Given the description of an element on the screen output the (x, y) to click on. 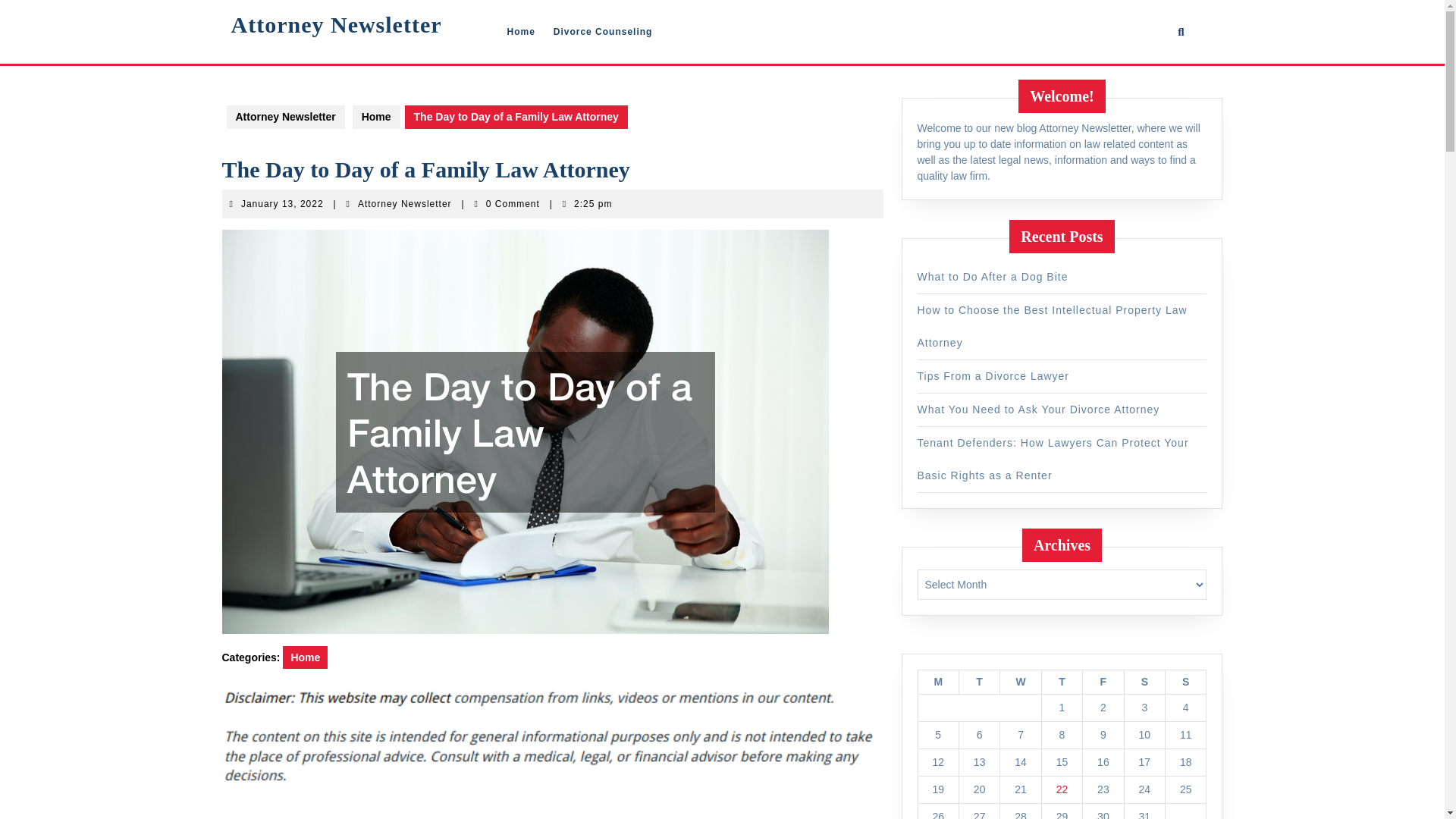
Thursday (1061, 682)
Monday (937, 682)
22 (1062, 788)
Attorney Newsletter (282, 204)
How to Choose the Best Intellectual Property Law Attorney (284, 116)
Saturday (1052, 325)
Wednesday (1144, 682)
Home (1020, 682)
